Given the description of an element on the screen output the (x, y) to click on. 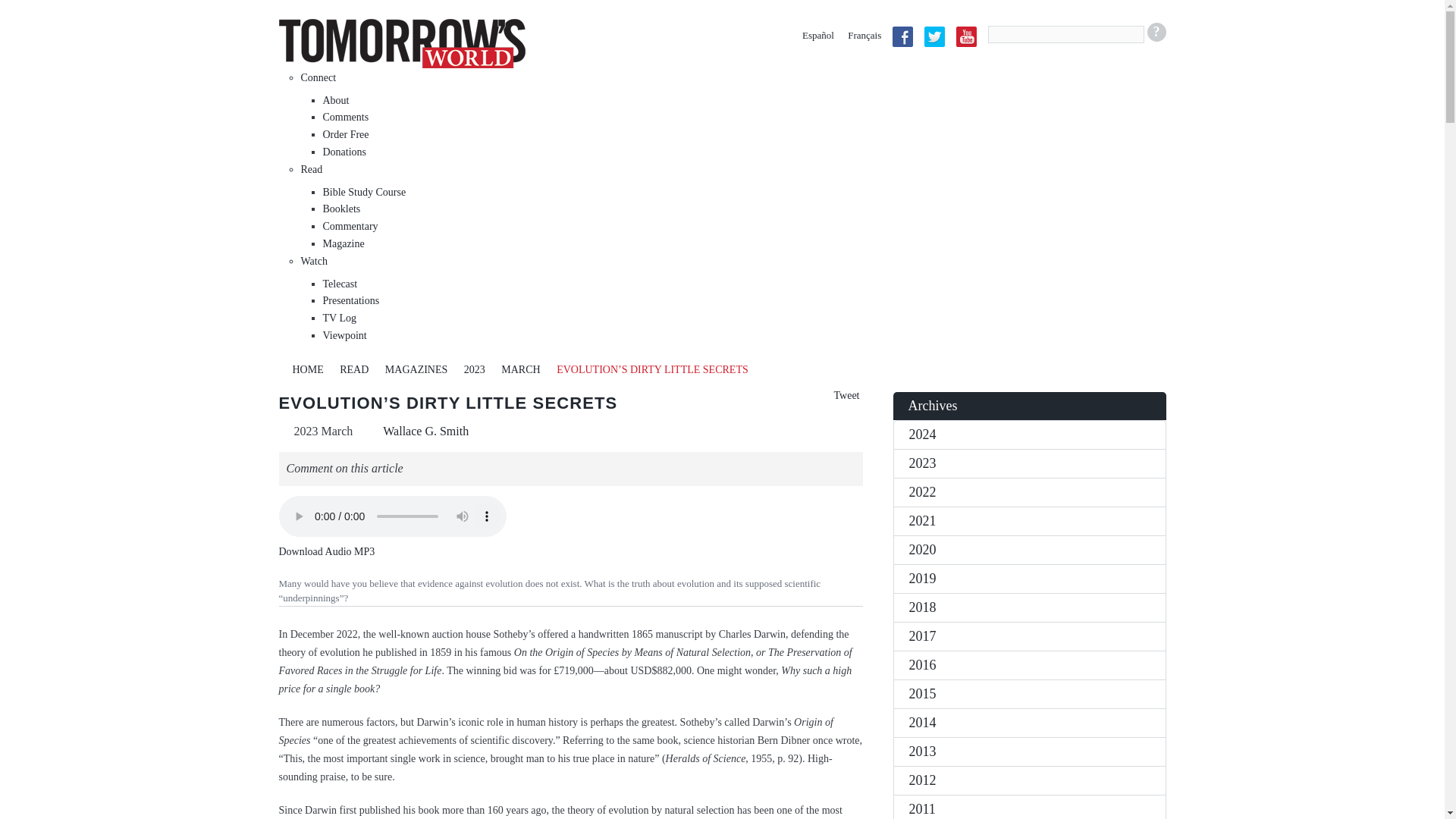
Comment on this article (344, 464)
2016 (1028, 664)
Connect (317, 77)
Booklets (342, 208)
HOME (307, 369)
Comments (346, 116)
Watch (312, 260)
Wallace G. Smith (425, 431)
2020 (1028, 549)
Tweet (845, 395)
2023 (474, 369)
Magazine (344, 243)
TV Log (339, 317)
2017 (1028, 635)
2022 (1028, 491)
